Given the description of an element on the screen output the (x, y) to click on. 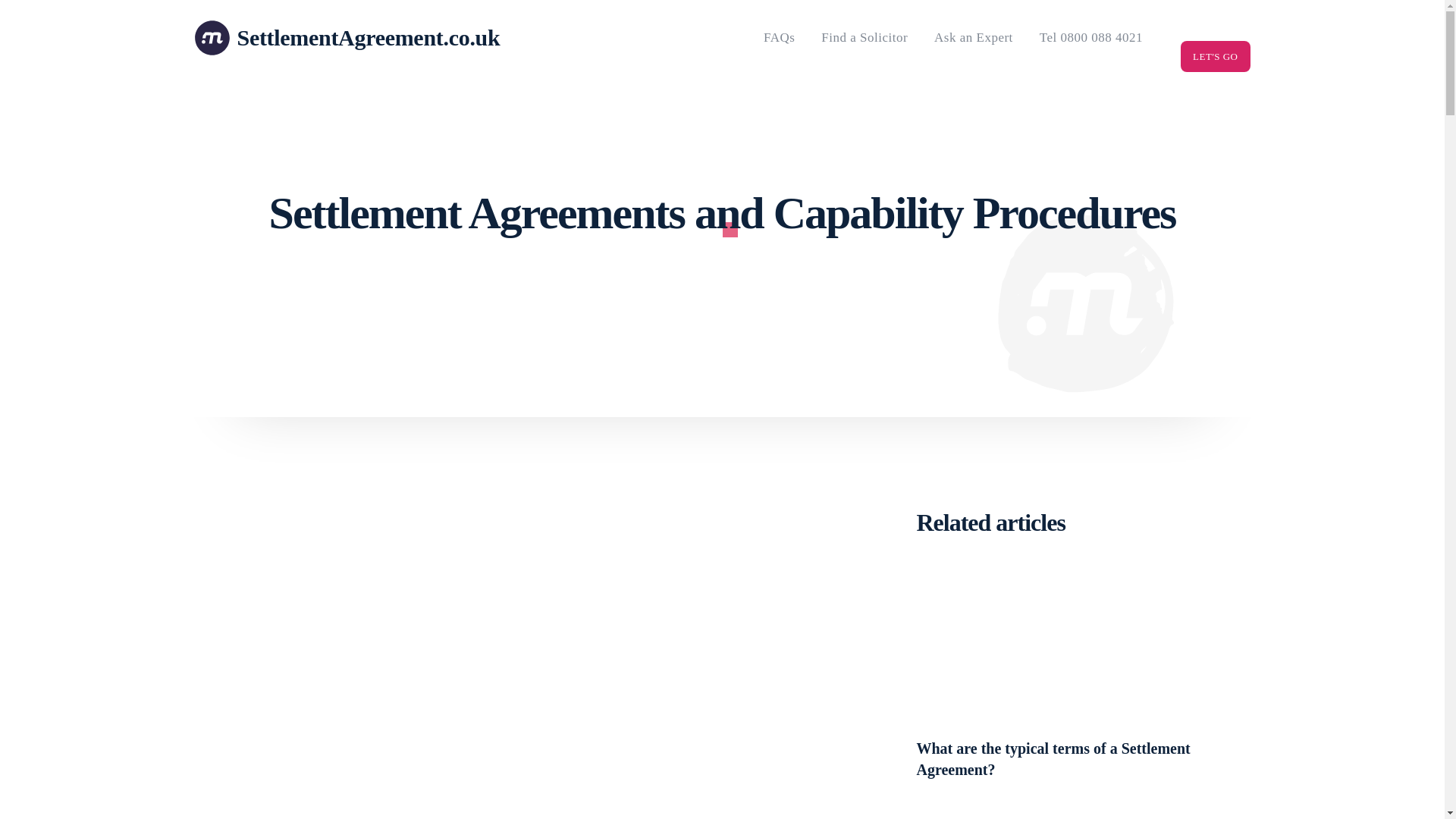
Let's go (1214, 56)
LET'S GO (1214, 56)
Find a Solicitor (864, 38)
What are the typical terms of a Settlement Agreement? (1052, 759)
Tel 0800 088 4021 (1091, 38)
What are the typical terms of a Settlement Agreement? (1082, 644)
Section 111A Employment Rights Act 1996 (1082, 811)
Ask an Expert (973, 38)
SettlementAgreement.co.uk (311, 37)
